Given the description of an element on the screen output the (x, y) to click on. 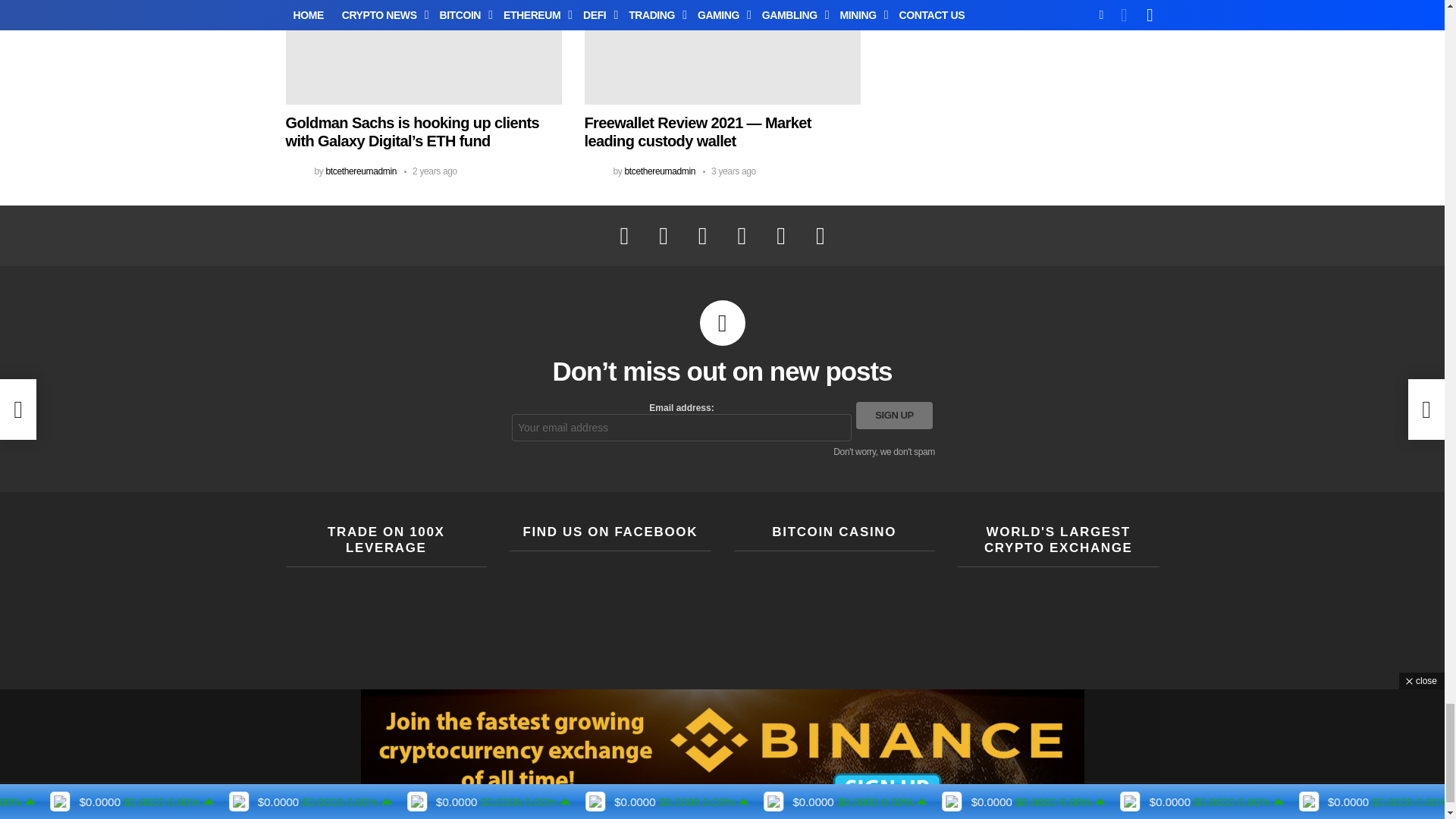
Sign up (894, 415)
